Given the description of an element on the screen output the (x, y) to click on. 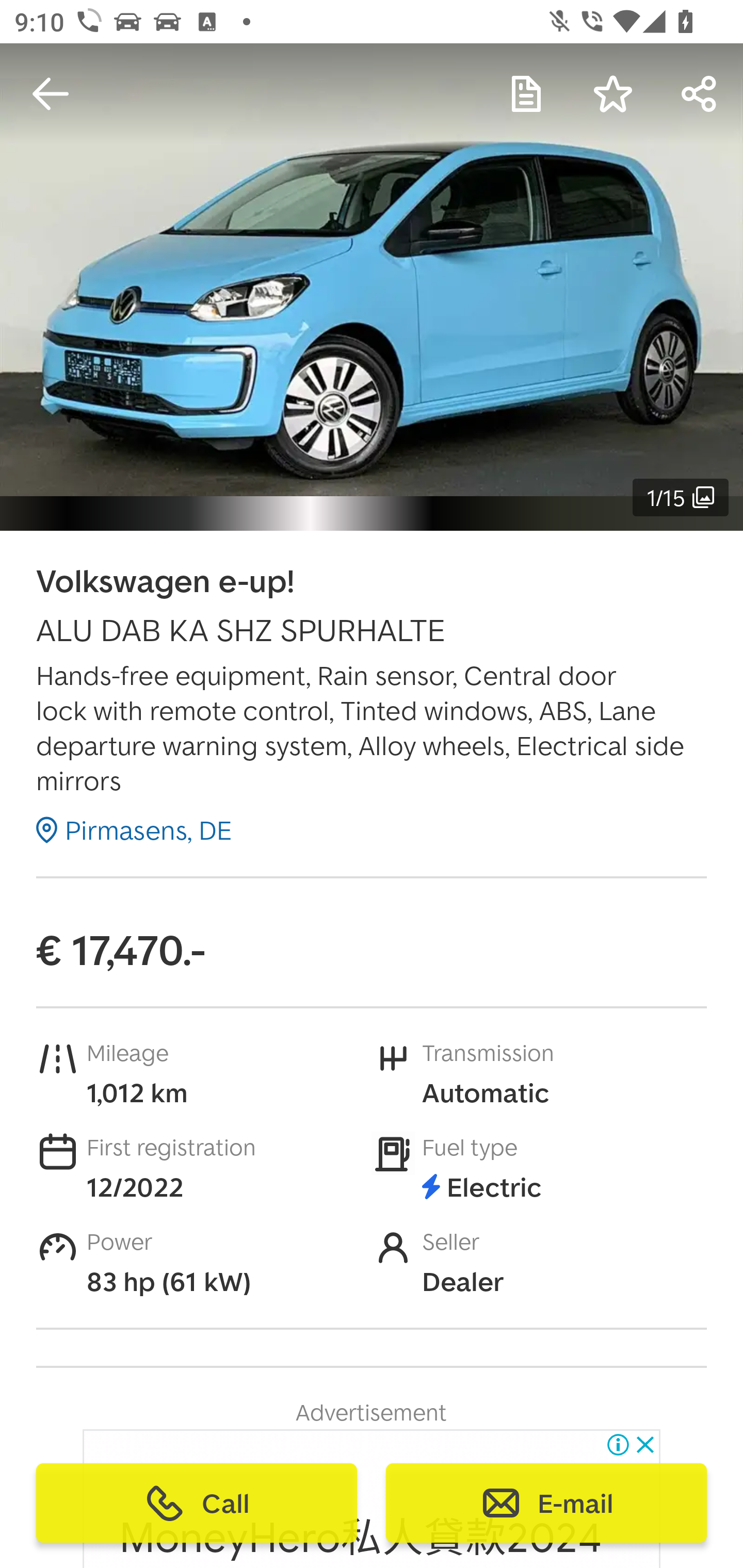
Navigate up (50, 93)
My Notes (525, 93)
Save (612, 93)
Forward (699, 93)
Pirmasens, DE (133, 829)
Call (196, 1502)
E-mail (545, 1502)
